Given the description of an element on the screen output the (x, y) to click on. 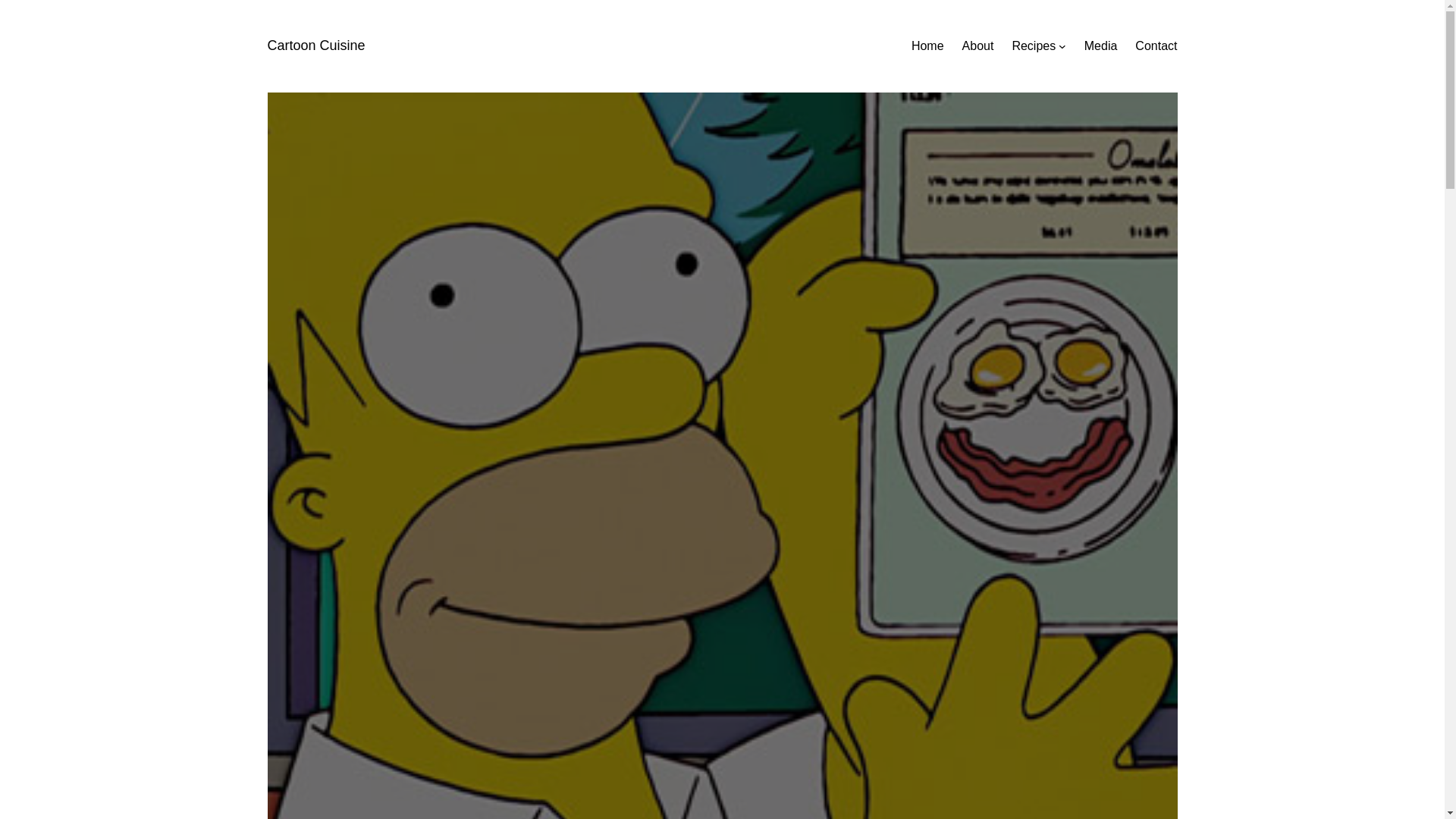
About (978, 46)
Home (927, 46)
Cartoon Cuisine (315, 45)
Contact (1155, 46)
Media (1101, 46)
Recipes (1033, 46)
